Given the description of an element on the screen output the (x, y) to click on. 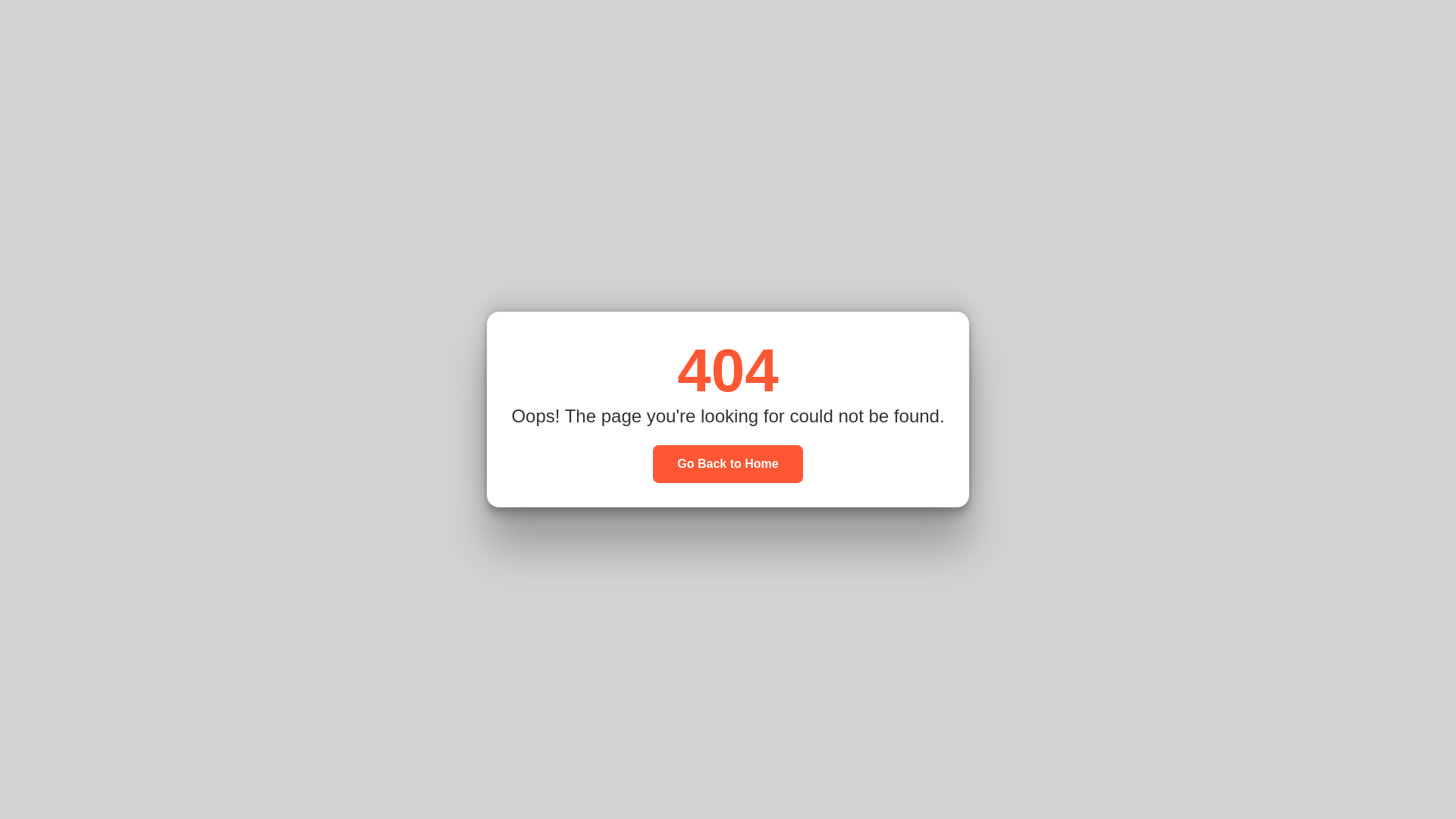
Go Back to Home (727, 464)
